Given the description of an element on the screen output the (x, y) to click on. 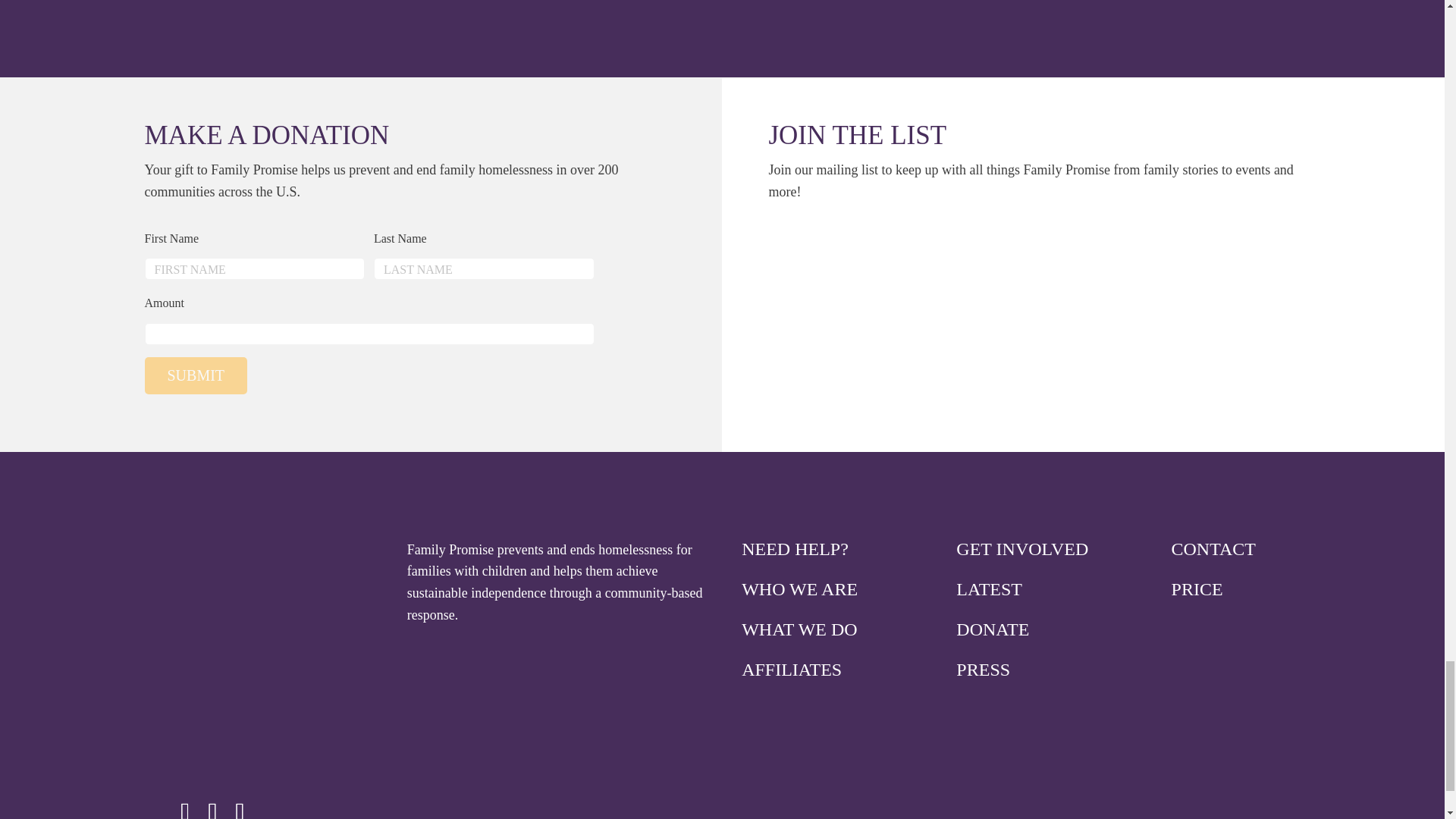
Submit (195, 375)
